Given the description of an element on the screen output the (x, y) to click on. 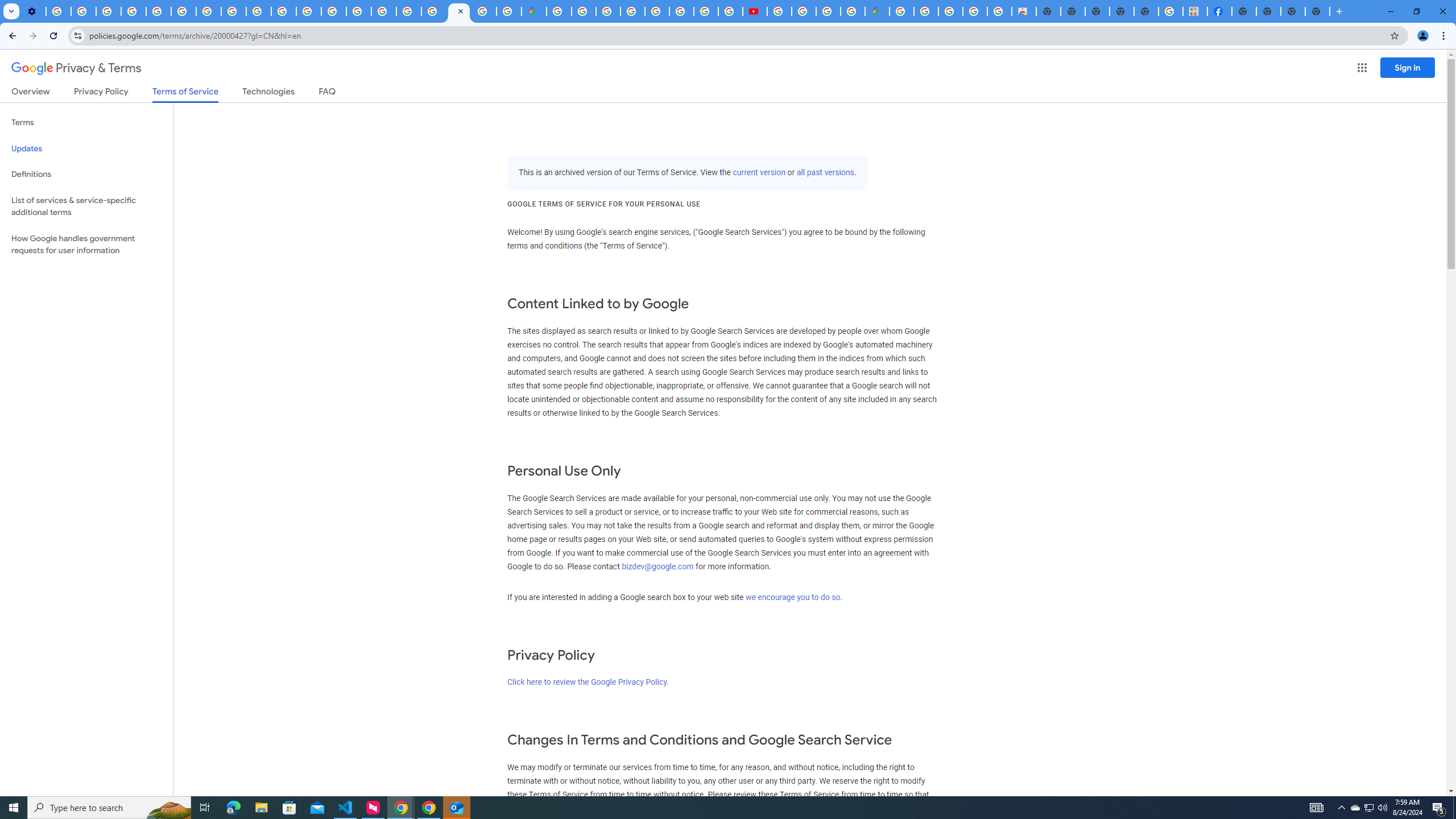
Chrome Web Store - Shopping (1023, 11)
Privacy Help Center - Policies Help (332, 11)
New Tab (1317, 11)
Click here to review the Google Privacy Policy (586, 682)
Privacy Help Center - Policies Help (680, 11)
all past versions (825, 172)
